Given the description of an element on the screen output the (x, y) to click on. 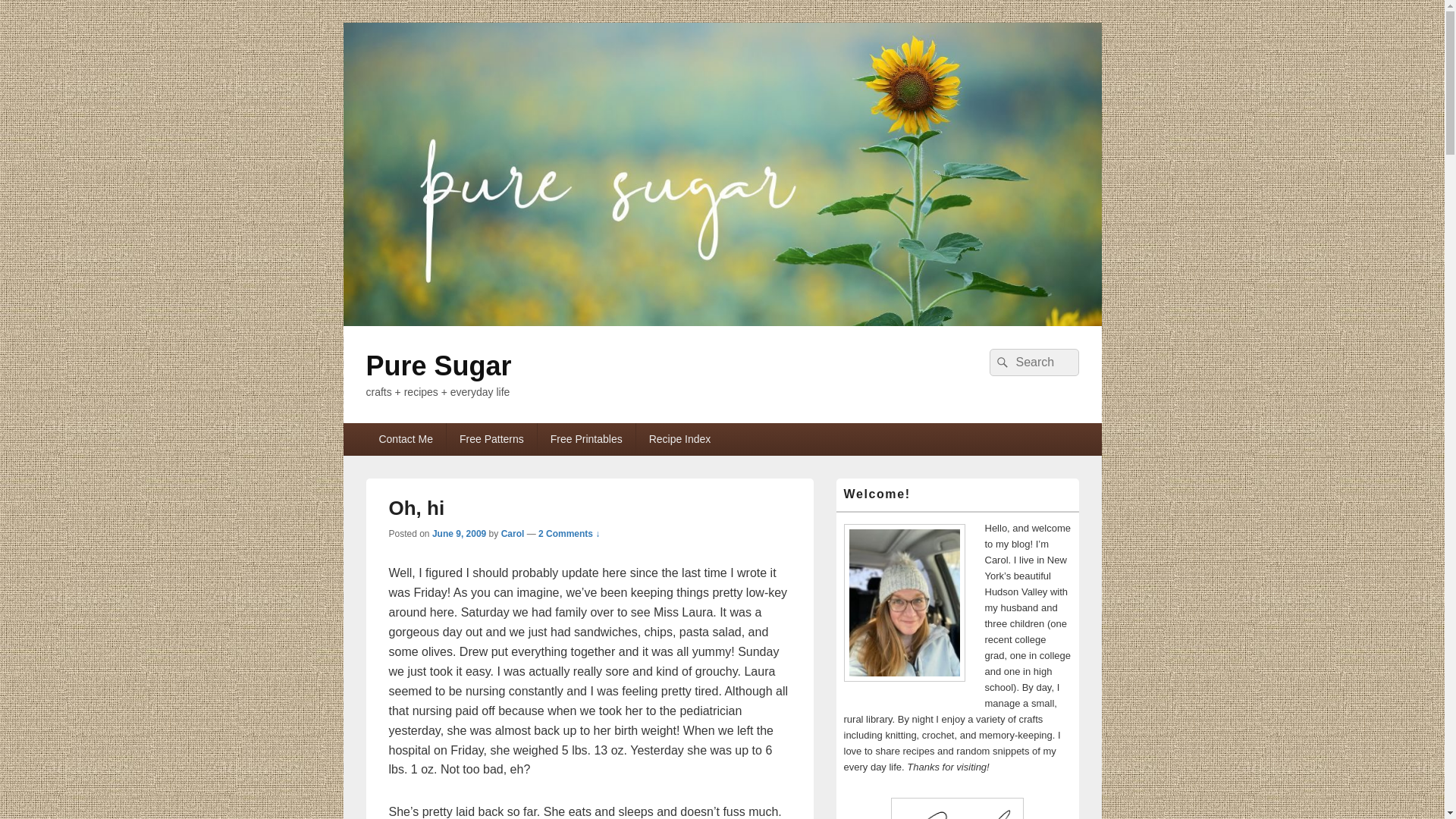
Carol (512, 533)
June 9, 2009 (459, 533)
Recipe Index (679, 439)
Pure Sugar (721, 321)
2:19 pm (459, 533)
Search for: (1033, 361)
Free Printables (585, 439)
Contact Me (405, 439)
Pure Sugar (438, 365)
Free Patterns (491, 439)
View all posts by Carol (512, 533)
